Given the description of an element on the screen output the (x, y) to click on. 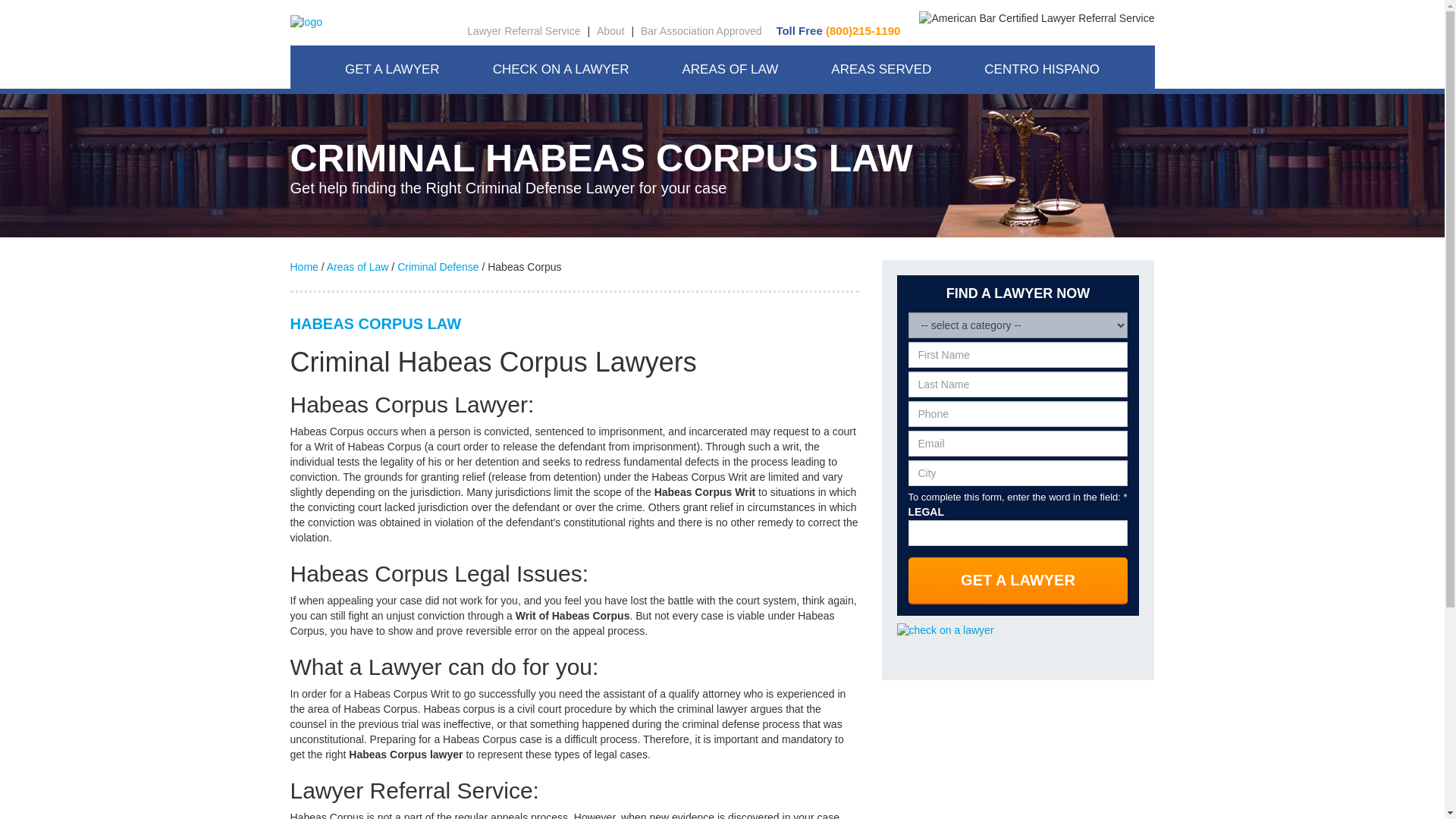
AREAS OF LAW (730, 69)
GET A LAWYER (391, 69)
AREAS SERVED (881, 69)
Alameda County Lawyers (889, 103)
CHECK ON A LAWYER (560, 69)
Bar Association Approved (701, 30)
Lawyer Referral Service (523, 30)
About (610, 30)
